Given the description of an element on the screen output the (x, y) to click on. 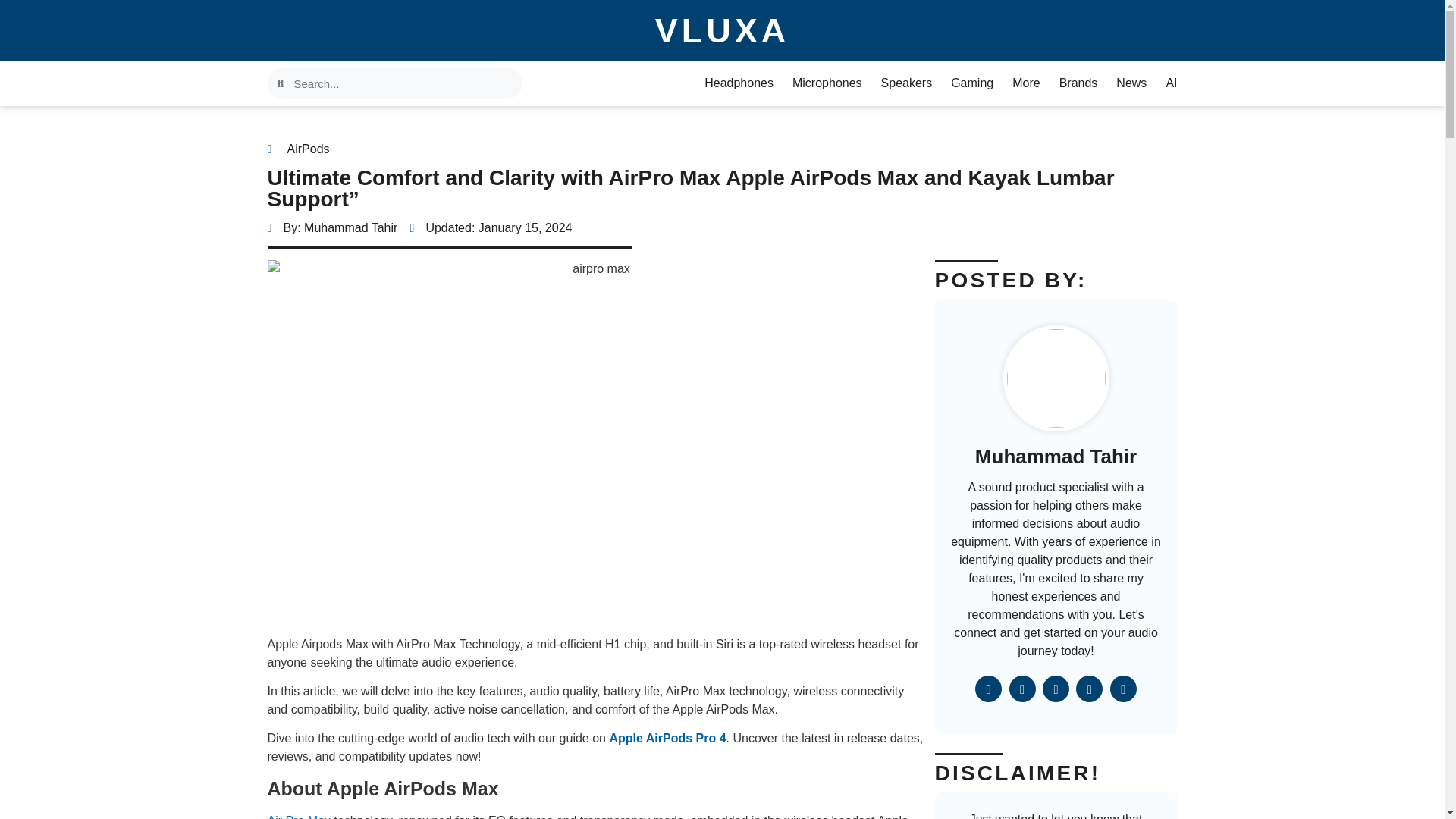
News (1131, 83)
Gaming (971, 83)
Microphones (826, 83)
Headphones (738, 83)
VLUXA (722, 29)
Speakers (906, 83)
Brands (1078, 83)
More (1025, 83)
